Given the description of an element on the screen output the (x, y) to click on. 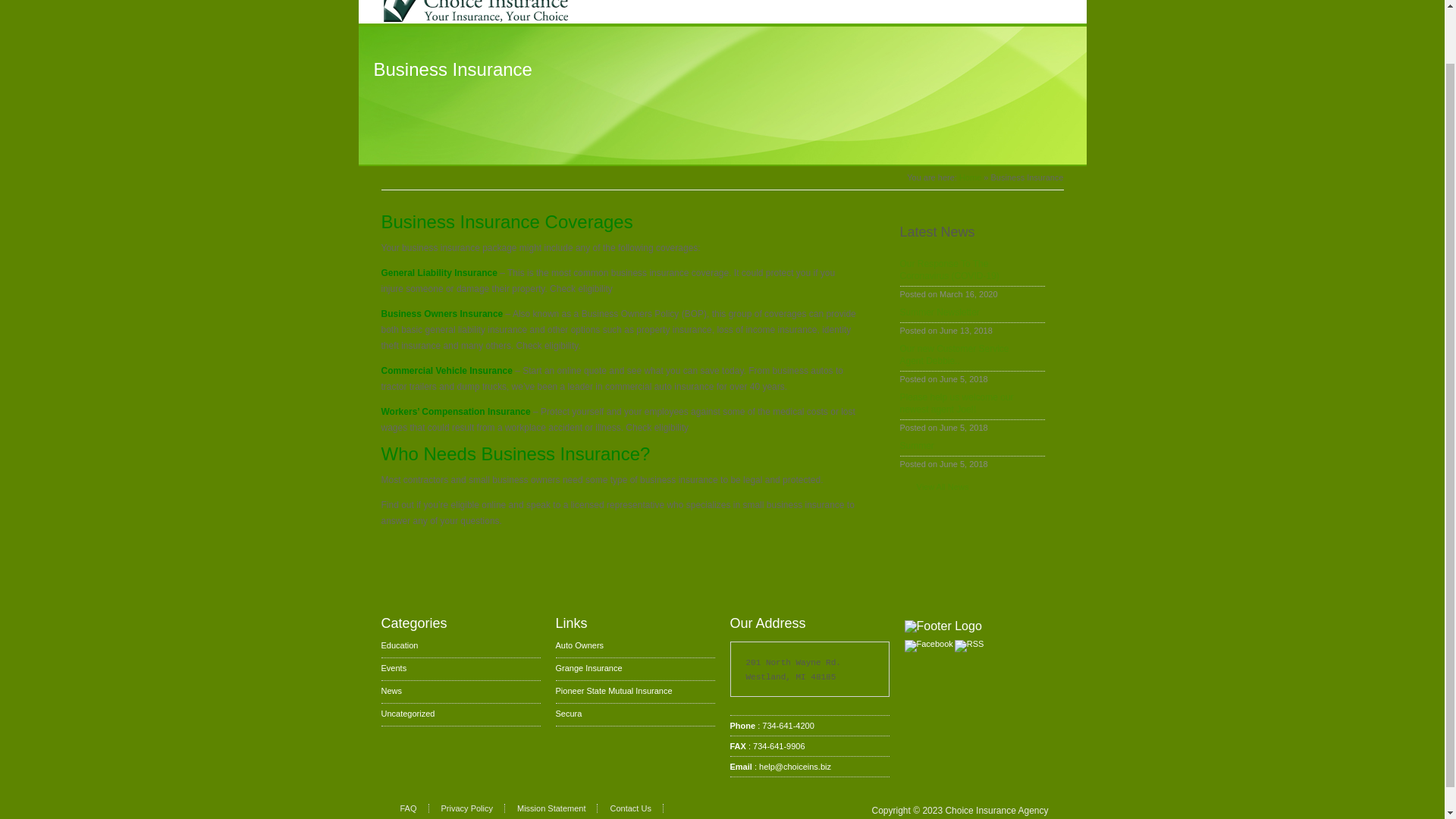
View All News (933, 486)
Our new Customer Service Agent Debbie.. (971, 354)
Home (970, 176)
Please help us welcome our newest agent Joe!! (971, 403)
Education (398, 645)
Summer Newsletter (971, 312)
Summer (971, 445)
